Given the description of an element on the screen output the (x, y) to click on. 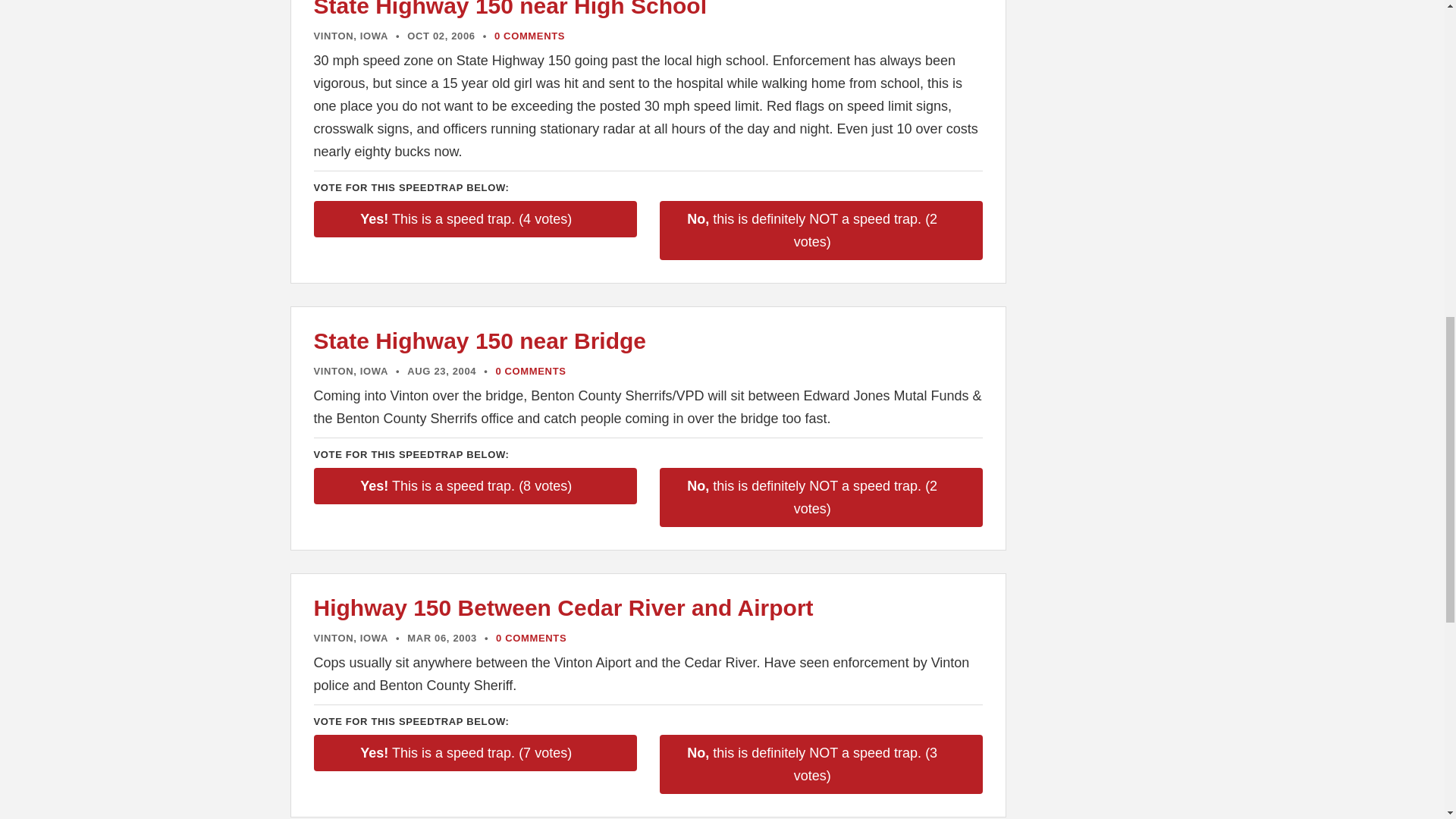
Advertisement (1091, 212)
